Given the description of an element on the screen output the (x, y) to click on. 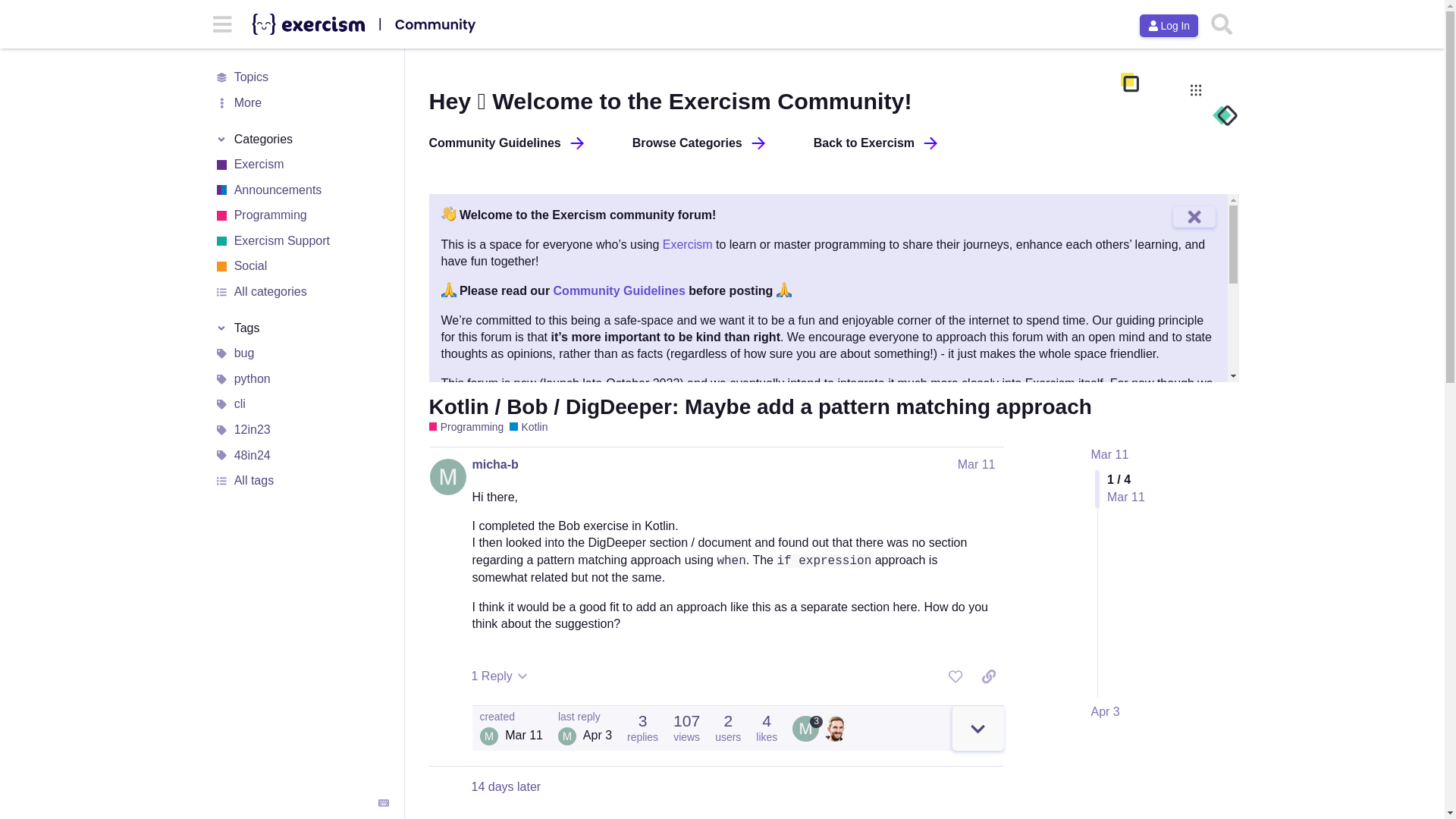
Search (1221, 23)
Keyboard Shortcuts (384, 802)
48in24 (301, 455)
Mar 11 (1109, 454)
Community Guidelines (506, 143)
Dismiss this banner (1194, 216)
Sidebar (222, 23)
Tags (301, 328)
All tags (301, 481)
Exercism (687, 244)
Kotlin (528, 427)
Programming (496, 488)
Announcements (301, 190)
Apr 3 (1104, 711)
